Given the description of an element on the screen output the (x, y) to click on. 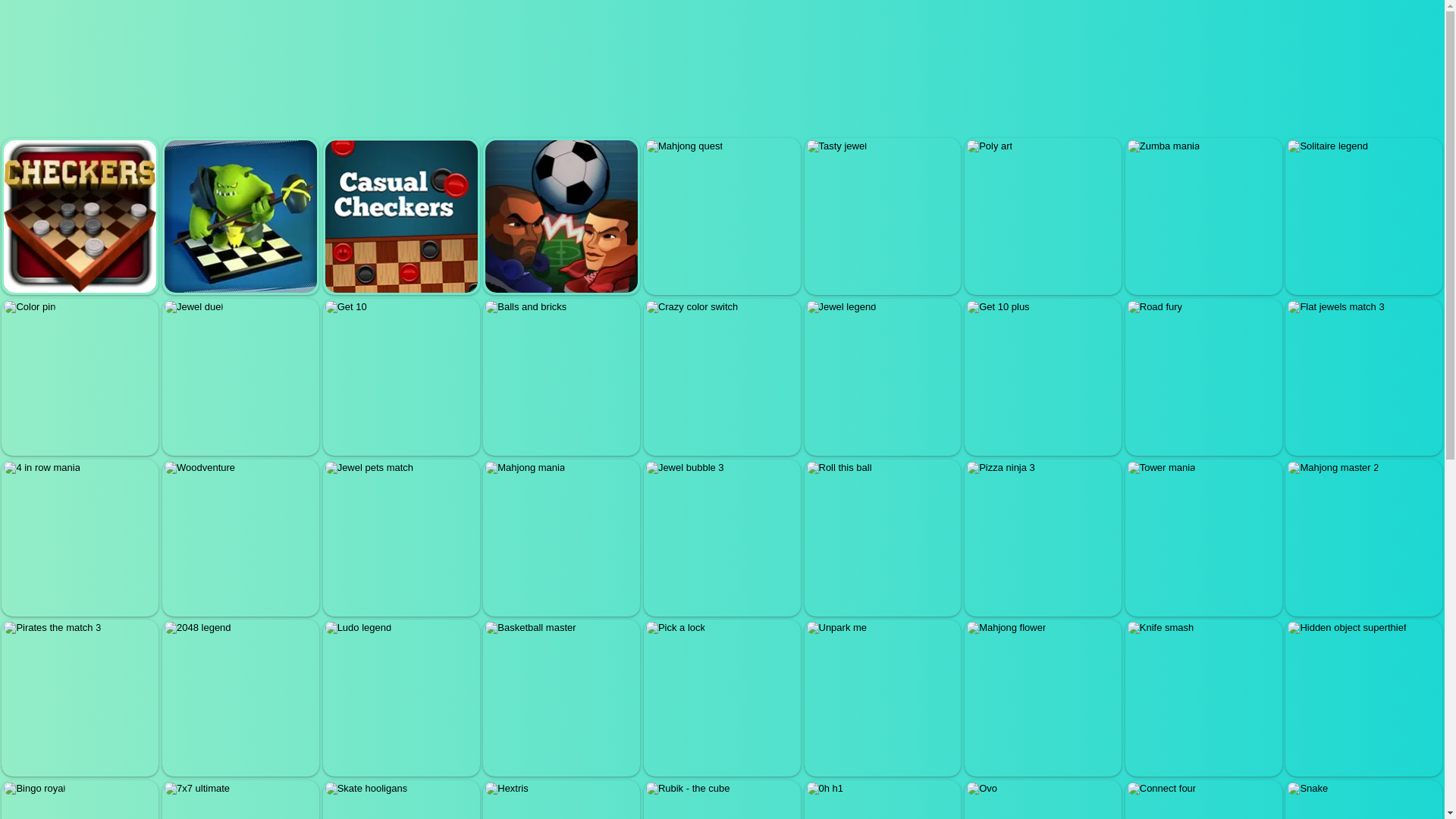
Jewel duel (240, 377)
Jewel bubble 3 (721, 537)
Casual checkers (400, 216)
Tower mania (1202, 537)
Football heads (560, 216)
Crazy color switch (721, 377)
Checkers rpg pvp (240, 216)
4 in row mania (79, 537)
Game Online (114, 28)
Solitaire legend (1363, 216)
